Given the description of an element on the screen output the (x, y) to click on. 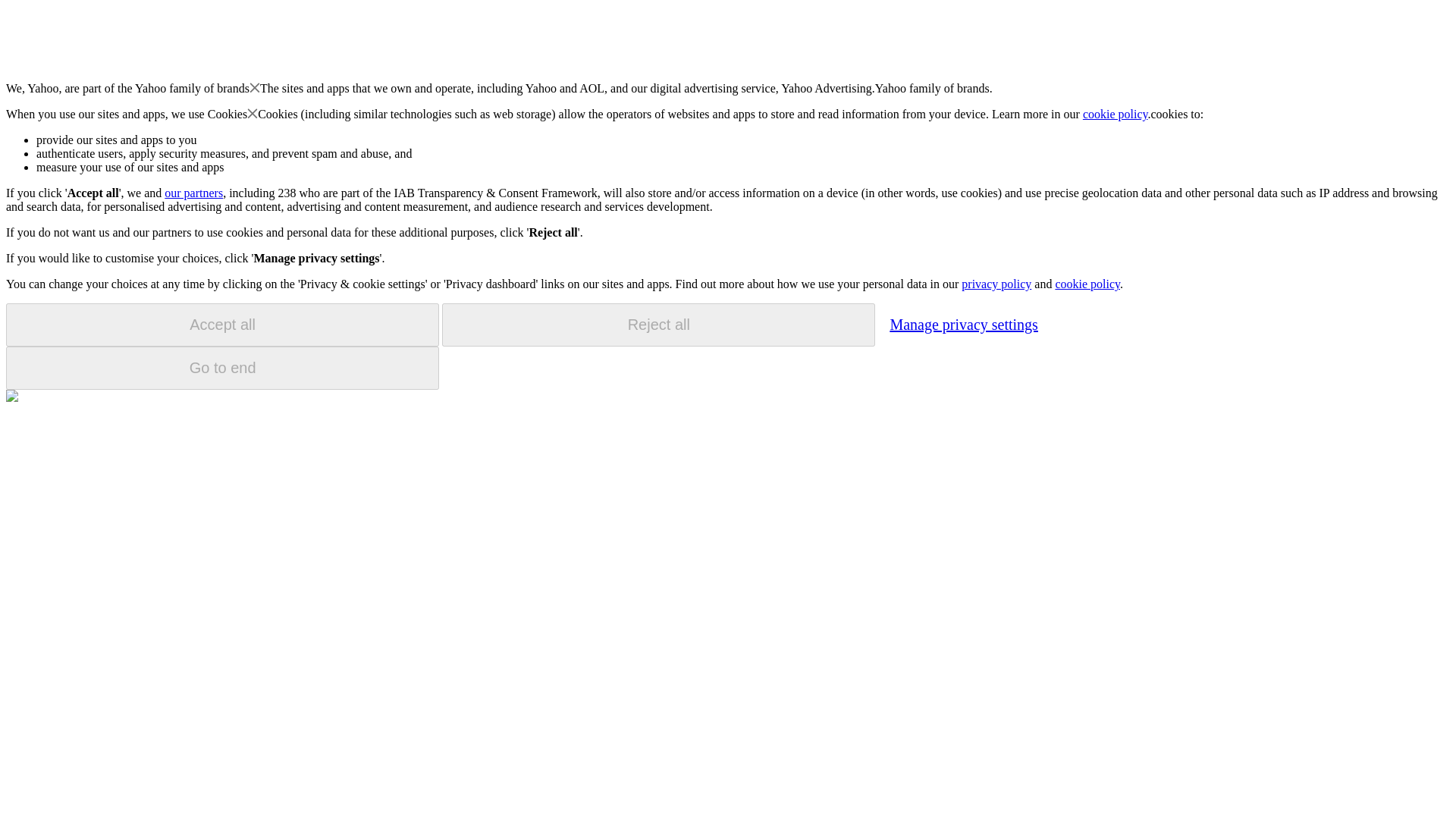
Manage privacy settings (963, 323)
cookie policy (1086, 283)
Reject all (658, 324)
Go to end (222, 367)
privacy policy (995, 283)
cookie policy (1115, 113)
our partners (193, 192)
Accept all (222, 324)
